Given the description of an element on the screen output the (x, y) to click on. 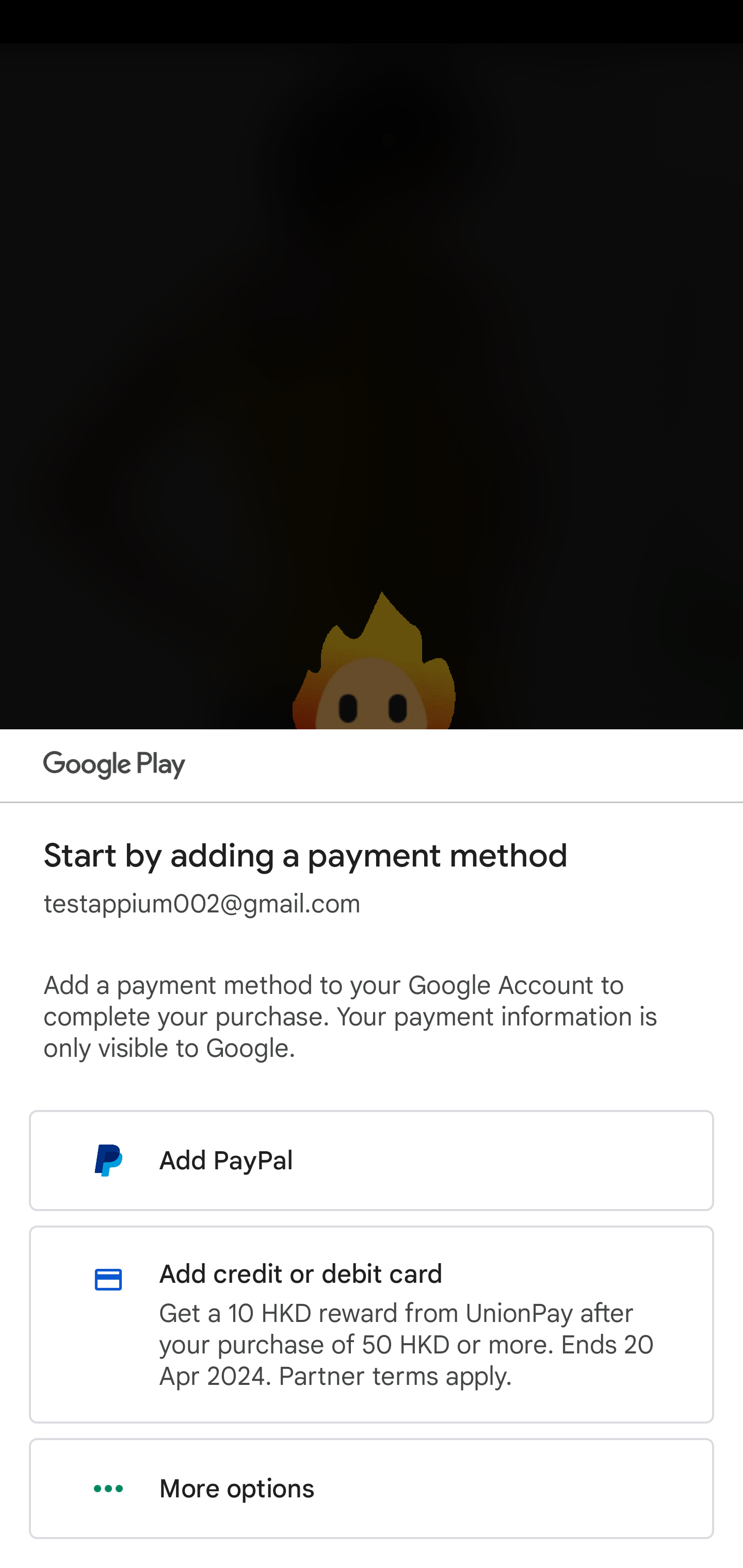
Add PayPal (371, 1160)
More options (371, 1488)
